Given the description of an element on the screen output the (x, y) to click on. 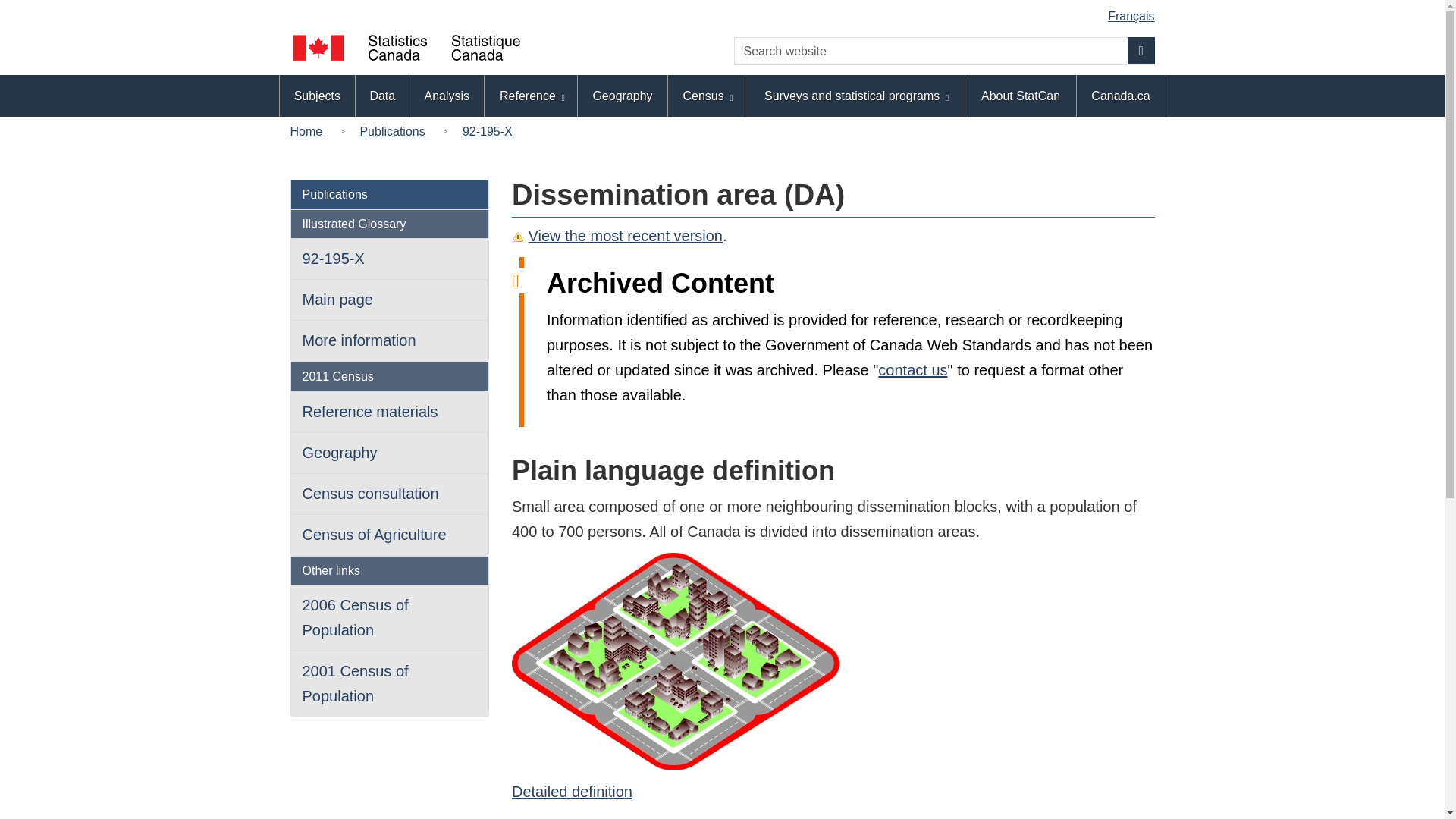
First page of the Publications module (392, 131)
Warning (518, 236)
Online catalogue: 92-195-X (332, 258)
Skip to main content (725, 11)
Main page of the Illustrated glossary (336, 299)
Online catalogue: 92-195-X (486, 131)
First page of the Publications module (333, 194)
